Given the description of an element on the screen output the (x, y) to click on. 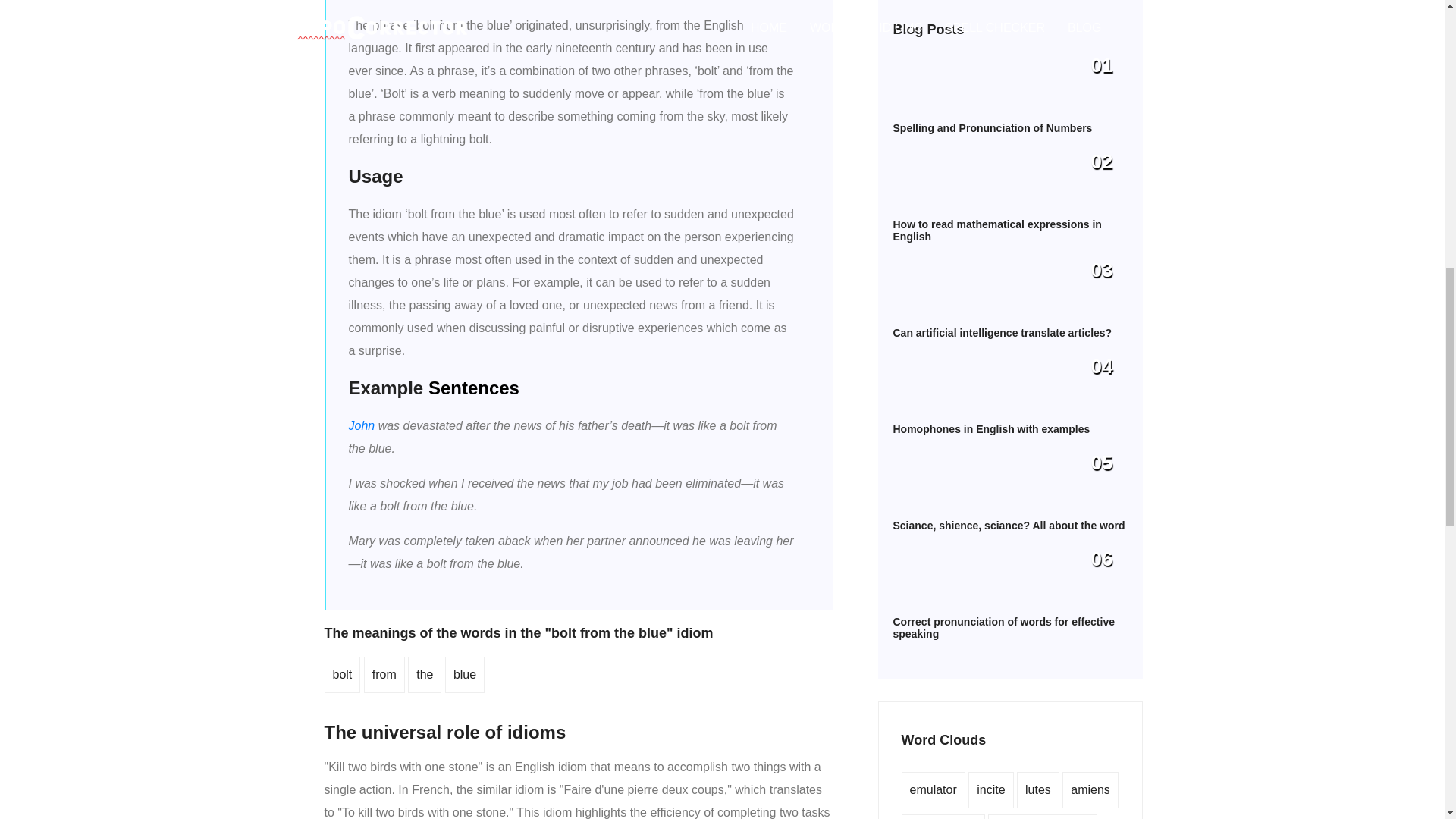
Sentences (473, 387)
blue (464, 674)
Correct spelling of from (384, 674)
John (362, 425)
Correct spelling of the (424, 674)
the (424, 674)
Correct spelling of blue (464, 674)
from (384, 674)
Correct spelling of bolt (341, 674)
bolt (341, 674)
